Given the description of an element on the screen output the (x, y) to click on. 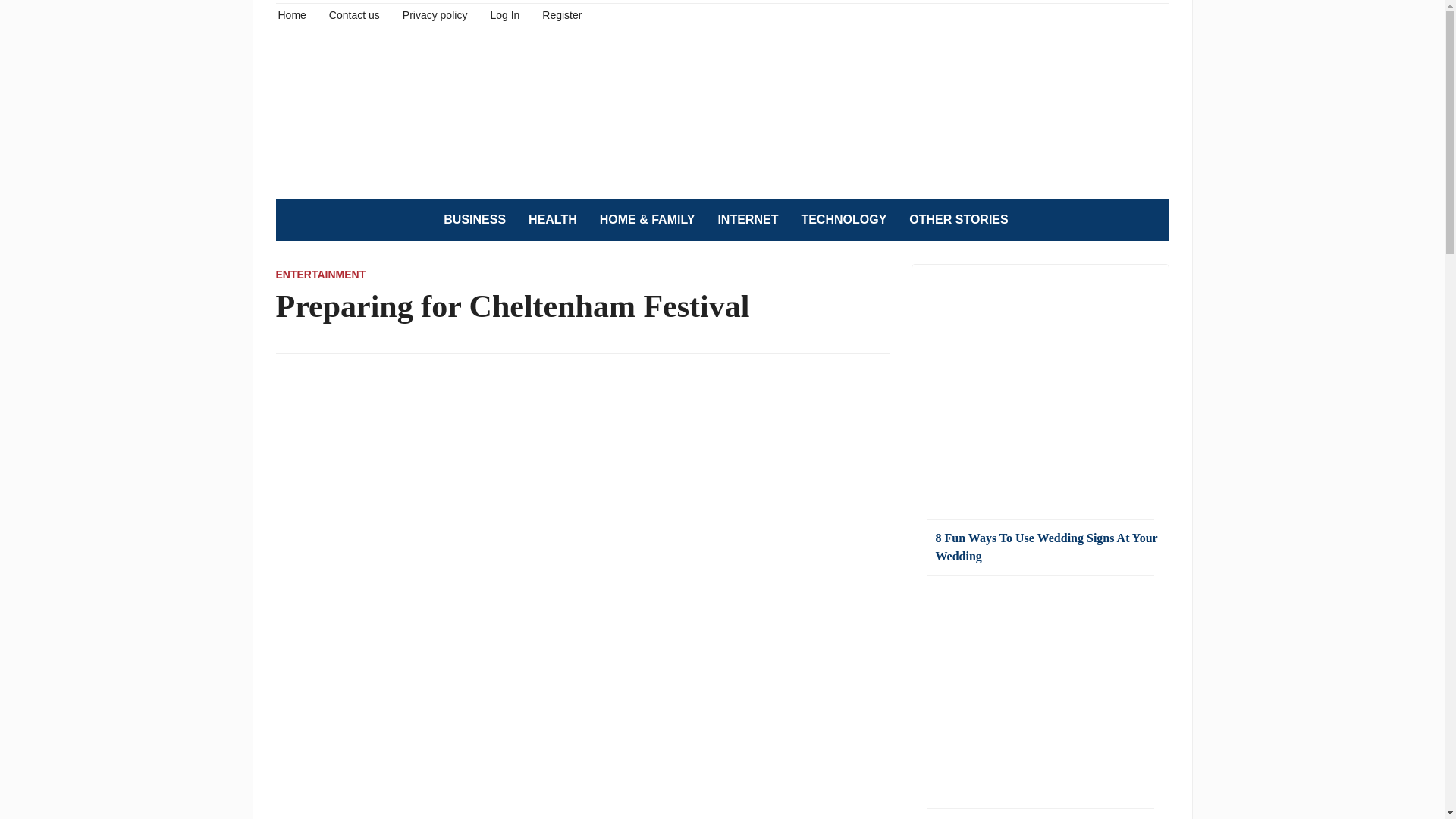
Log In (504, 14)
Contact us (354, 14)
Register (560, 14)
Search (1149, 219)
Privacy policy (435, 14)
Home (291, 14)
